Given the description of an element on the screen output the (x, y) to click on. 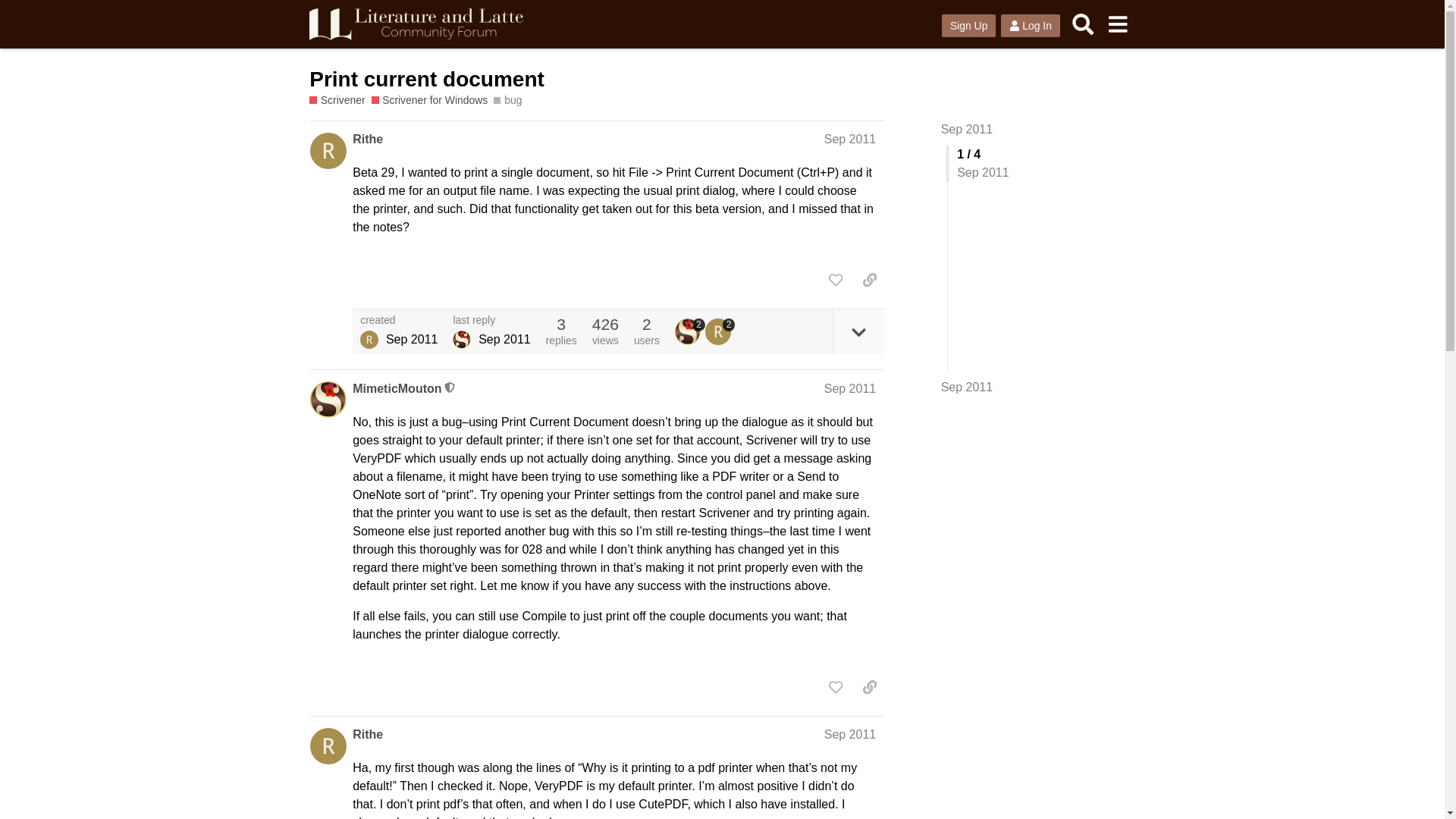
2 (719, 330)
Jennifer (461, 339)
menu (1117, 23)
Sep 2011 (966, 128)
Jump to the first post (966, 128)
copy a link to this post to clipboard (869, 279)
Rithe (367, 734)
Sep 2011 (850, 138)
like this post (835, 279)
Print current document (426, 78)
Rithe (368, 339)
Sep 24, 2011 1:02 am (411, 338)
Scrivener (336, 100)
Post date (850, 138)
Sep 2011 (850, 734)
